Given the description of an element on the screen output the (x, y) to click on. 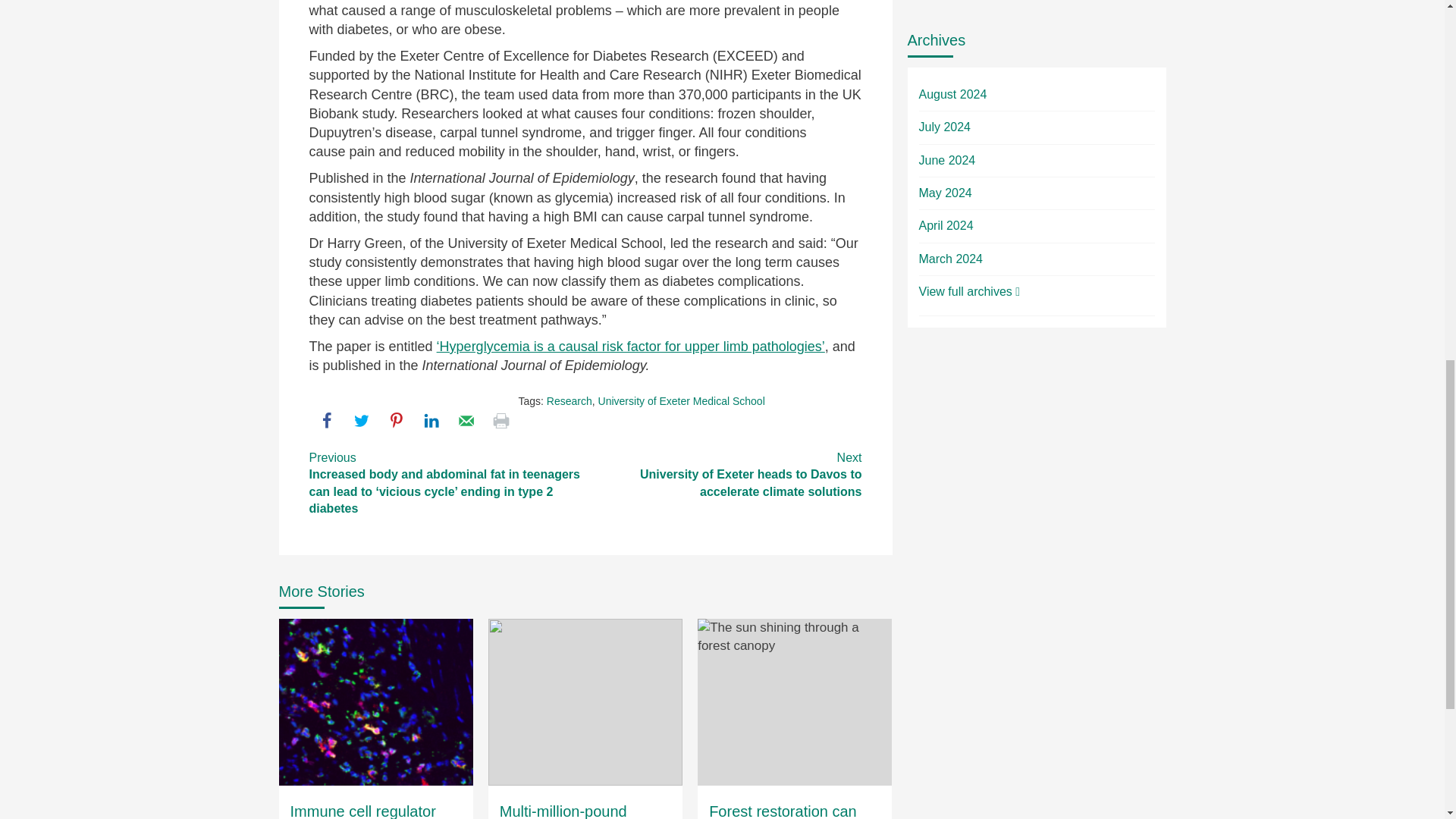
Share on LinkedIn (430, 420)
Share on Twitter (360, 420)
Share on Facebook (325, 420)
Save to Pinterest (395, 420)
Send over email (465, 420)
Print this webpage (500, 420)
